Given the description of an element on the screen output the (x, y) to click on. 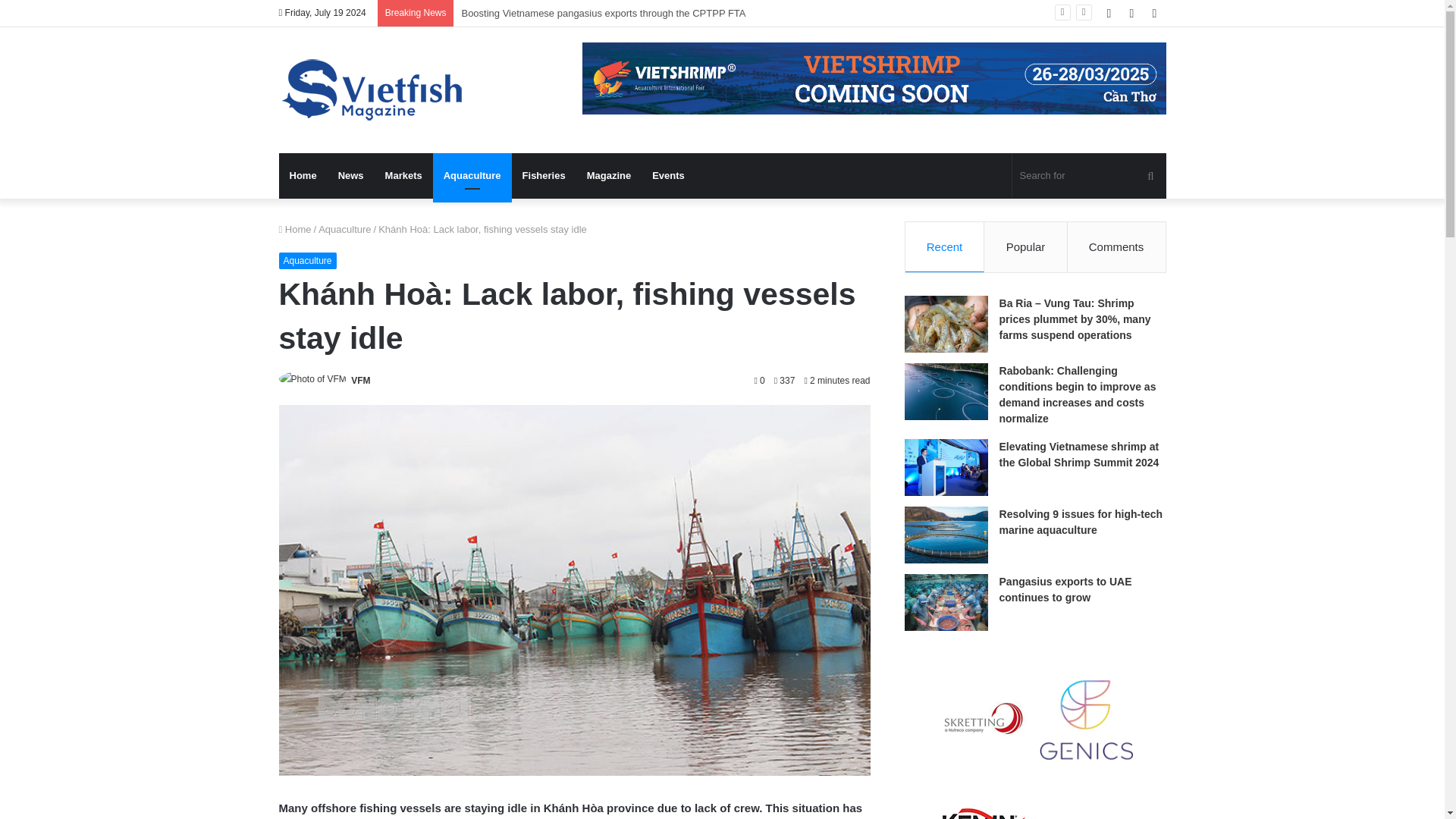
Fisheries (544, 176)
VFM (359, 380)
Home (303, 176)
Aquaculture (307, 260)
Markets (403, 176)
Boosting Vietnamese pangasius exports through the CPTPP FTA (603, 12)
Magazine (609, 176)
Home (295, 229)
VFM (359, 380)
Search for (1088, 176)
Events (668, 176)
Vietnam Fisheries Magazine (373, 89)
News (350, 176)
Aquaculture (472, 176)
Aquaculture (344, 229)
